Given the description of an element on the screen output the (x, y) to click on. 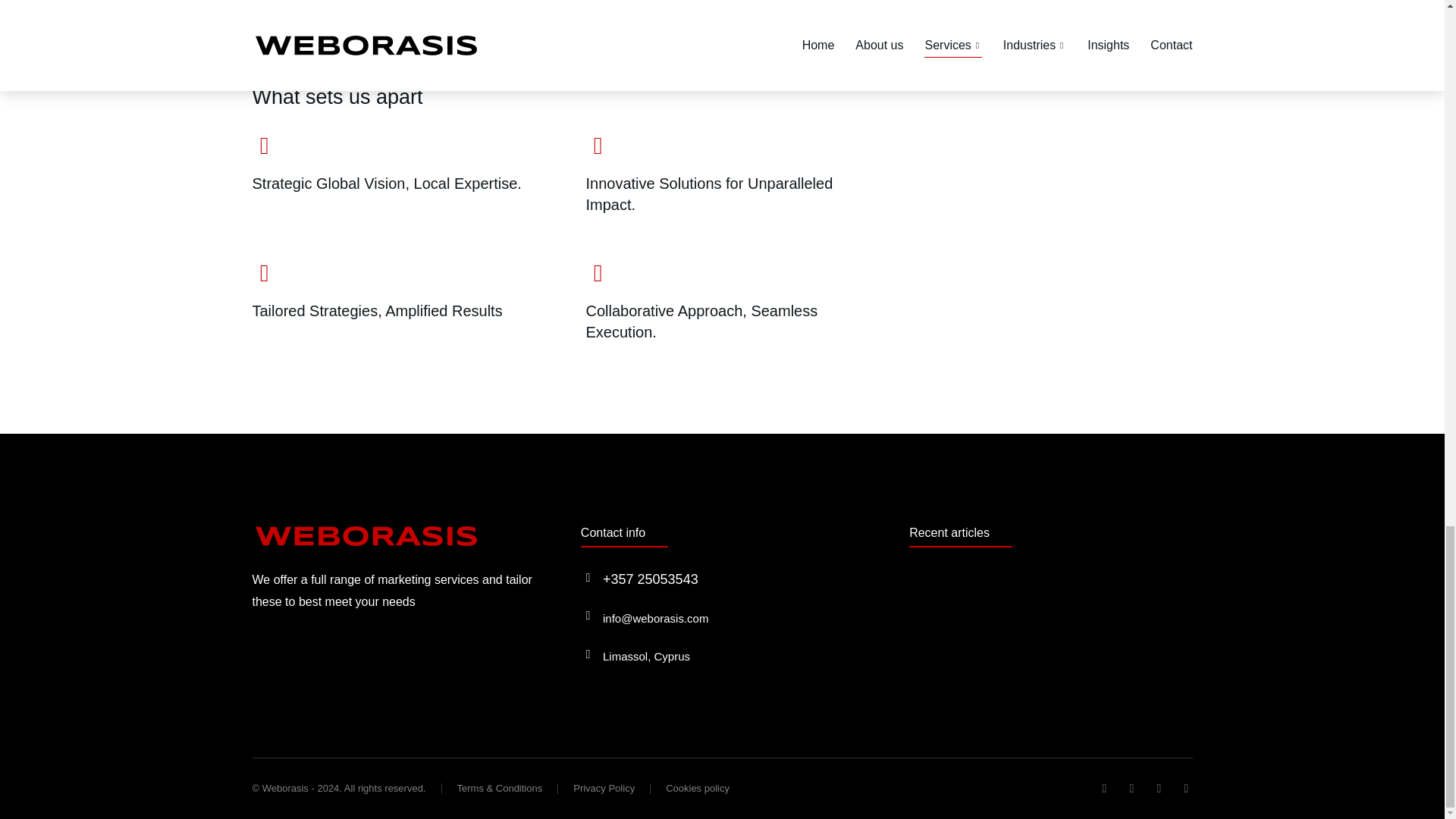
Innovative Solutions for Unparalleled Impact. (729, 174)
Strategic Global Vision, Local Expertise. (395, 174)
Tailored Strategies, Amplified Results (395, 302)
